Given the description of an element on the screen output the (x, y) to click on. 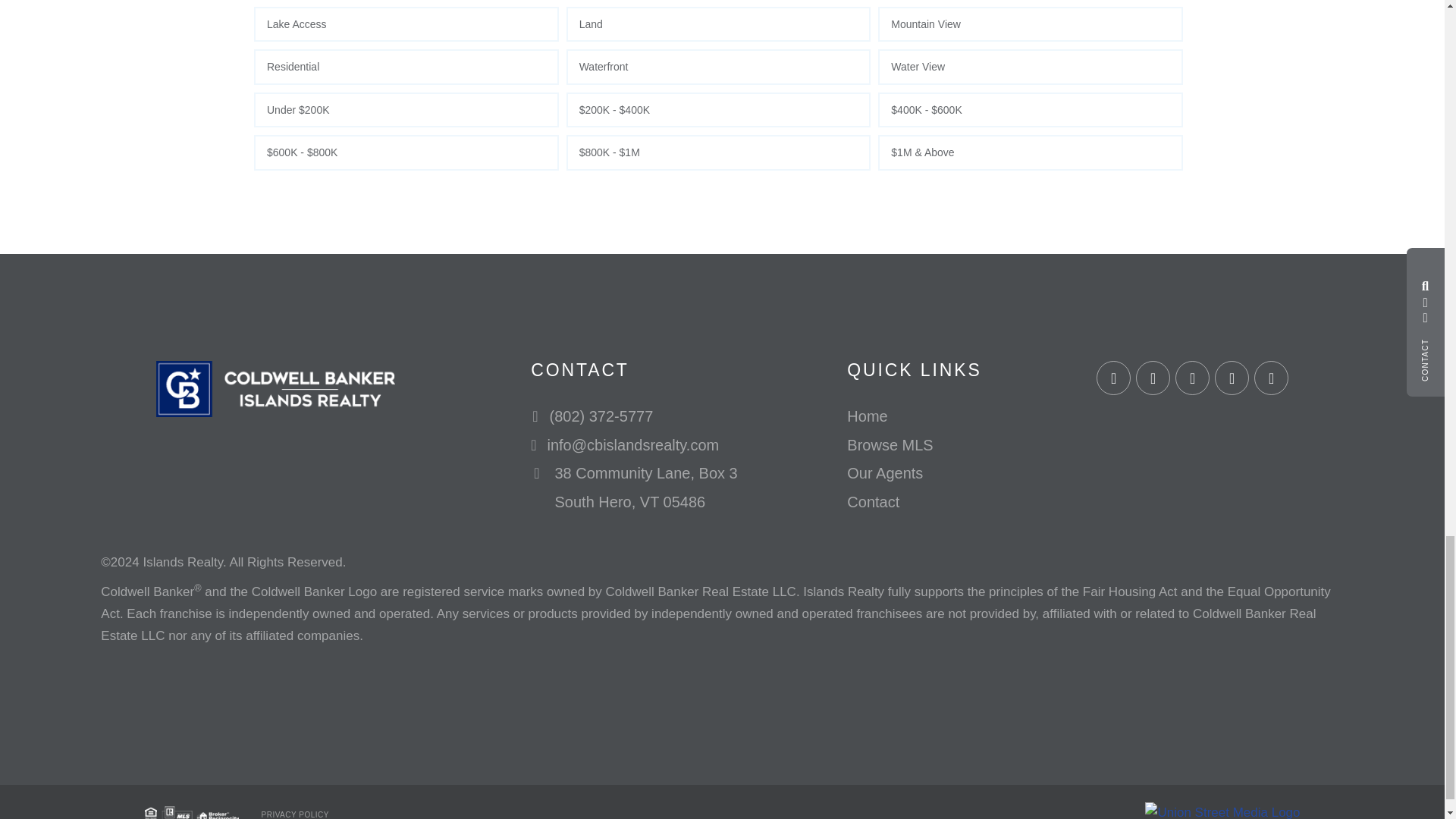
Land For Sale In The Lake Champlain Islands (718, 23)
Homes For Sale In The Lake Champlain Islands (406, 66)
Lake Champlain Islands Waterfront Homes for Sale (718, 66)
